Given the description of an element on the screen output the (x, y) to click on. 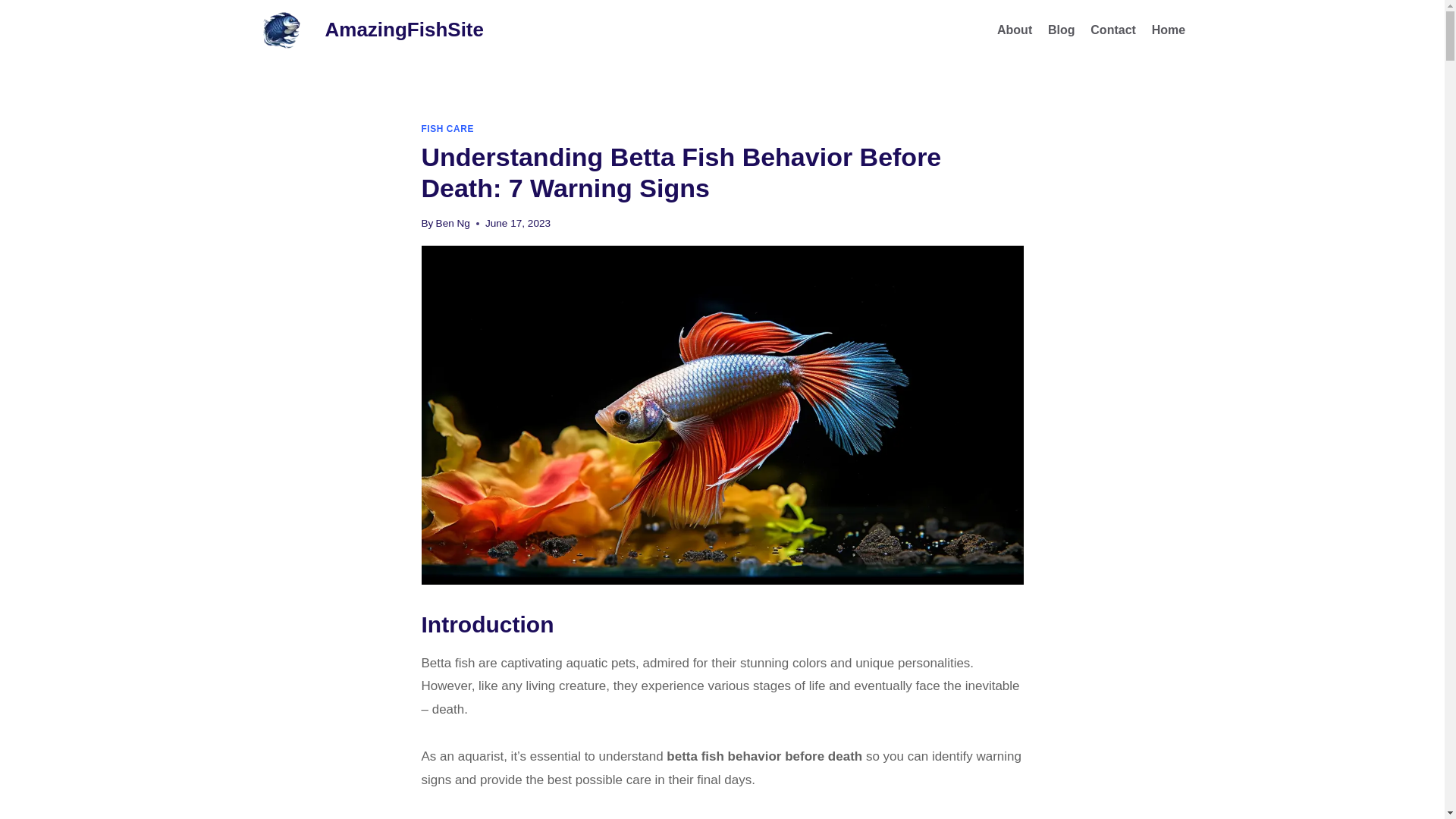
Contact (1112, 29)
FISH CARE (448, 128)
AmazingFishSite (367, 30)
About (1015, 29)
Ben Ng (452, 223)
Home (1167, 29)
Blog (1062, 29)
